Given the description of an element on the screen output the (x, y) to click on. 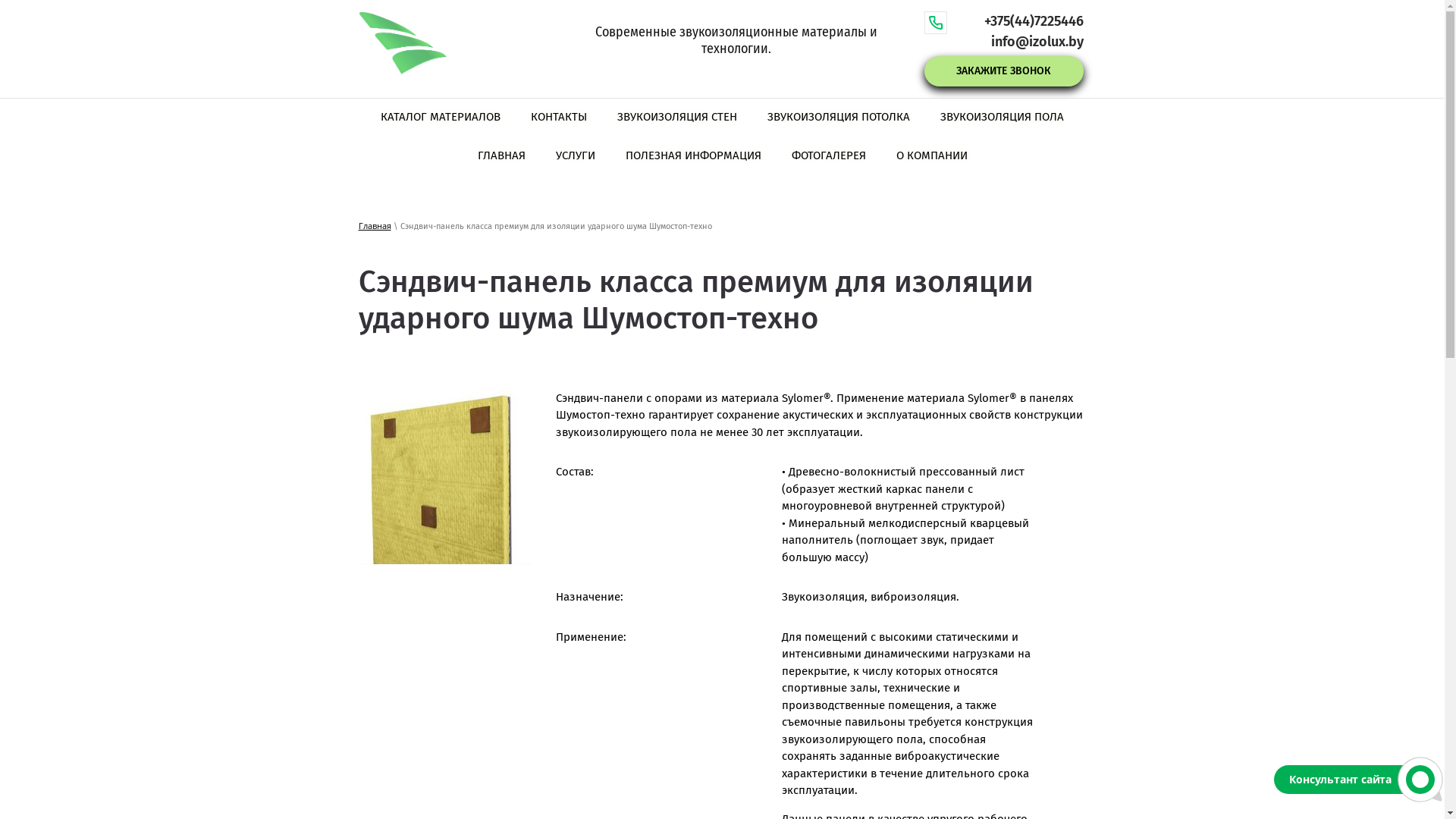
+375(44)7225446 Element type: text (1033, 20)
info@izolux.by Element type: text (1036, 41)
